Given the description of an element on the screen output the (x, y) to click on. 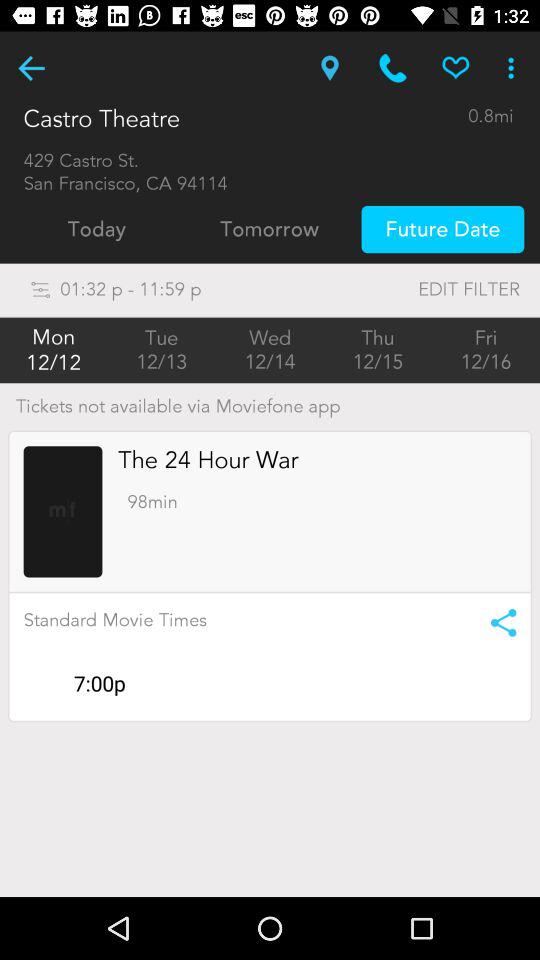
information (496, 622)
